Given the description of an element on the screen output the (x, y) to click on. 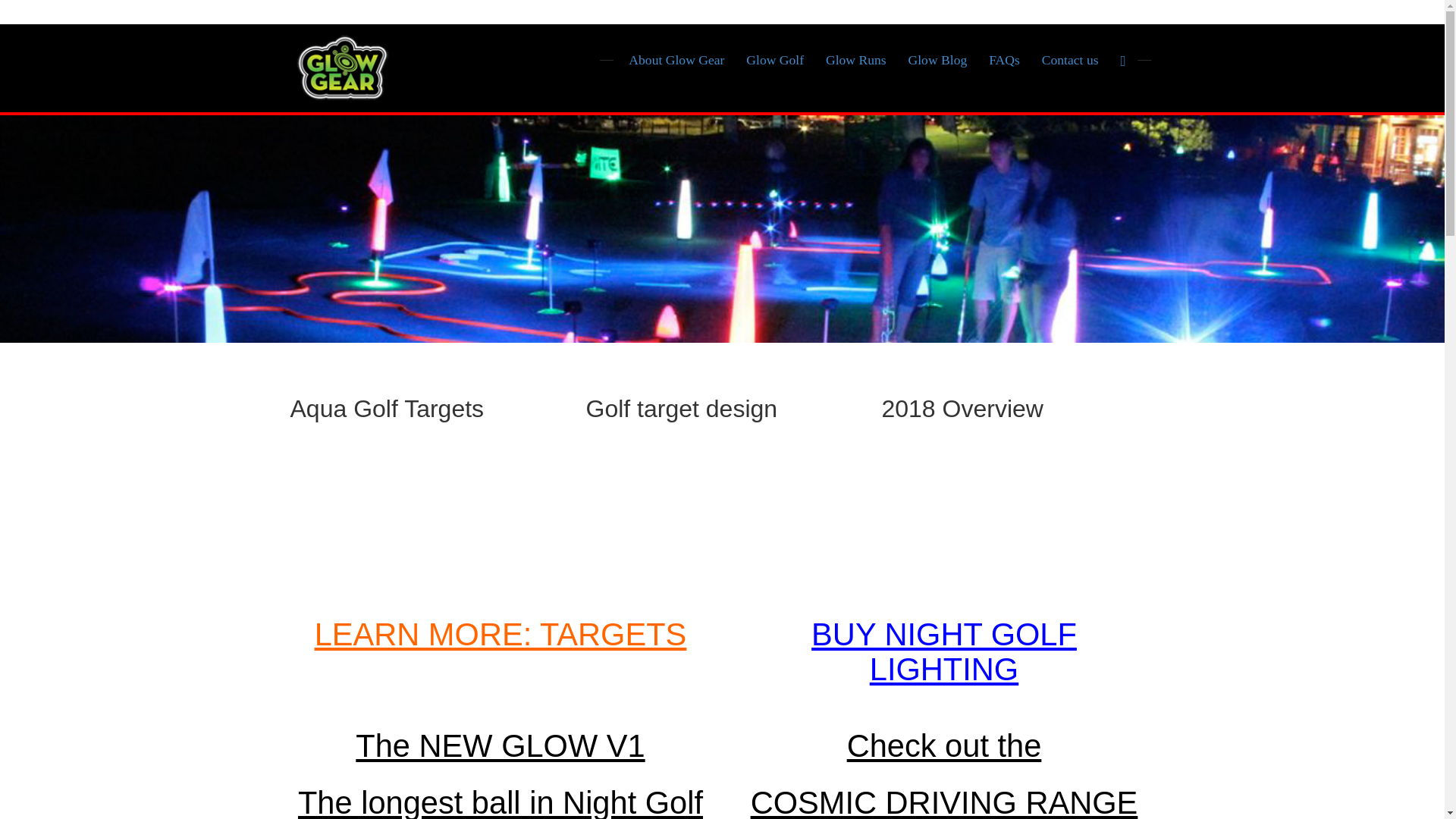
FAQs (1004, 57)
The NEW GLOW V1 (500, 745)
About Glow Gear (674, 57)
Glowgear Driving Range Targets (1017, 518)
COSMIC DRIVING RANGE (944, 801)
LEARN MORE: TARGETS (500, 633)
Glowgear golf target overview (722, 518)
Glow Golf (774, 57)
Glow Blog (937, 57)
Glowgear Aqua Golf Targets (425, 518)
Check out the (944, 745)
Glow Runs (855, 57)
Contact us (1070, 57)
The longest ball in Night Golf (500, 801)
BUY NIGHT GOLF LIGHTING (943, 651)
